Given the description of an element on the screen output the (x, y) to click on. 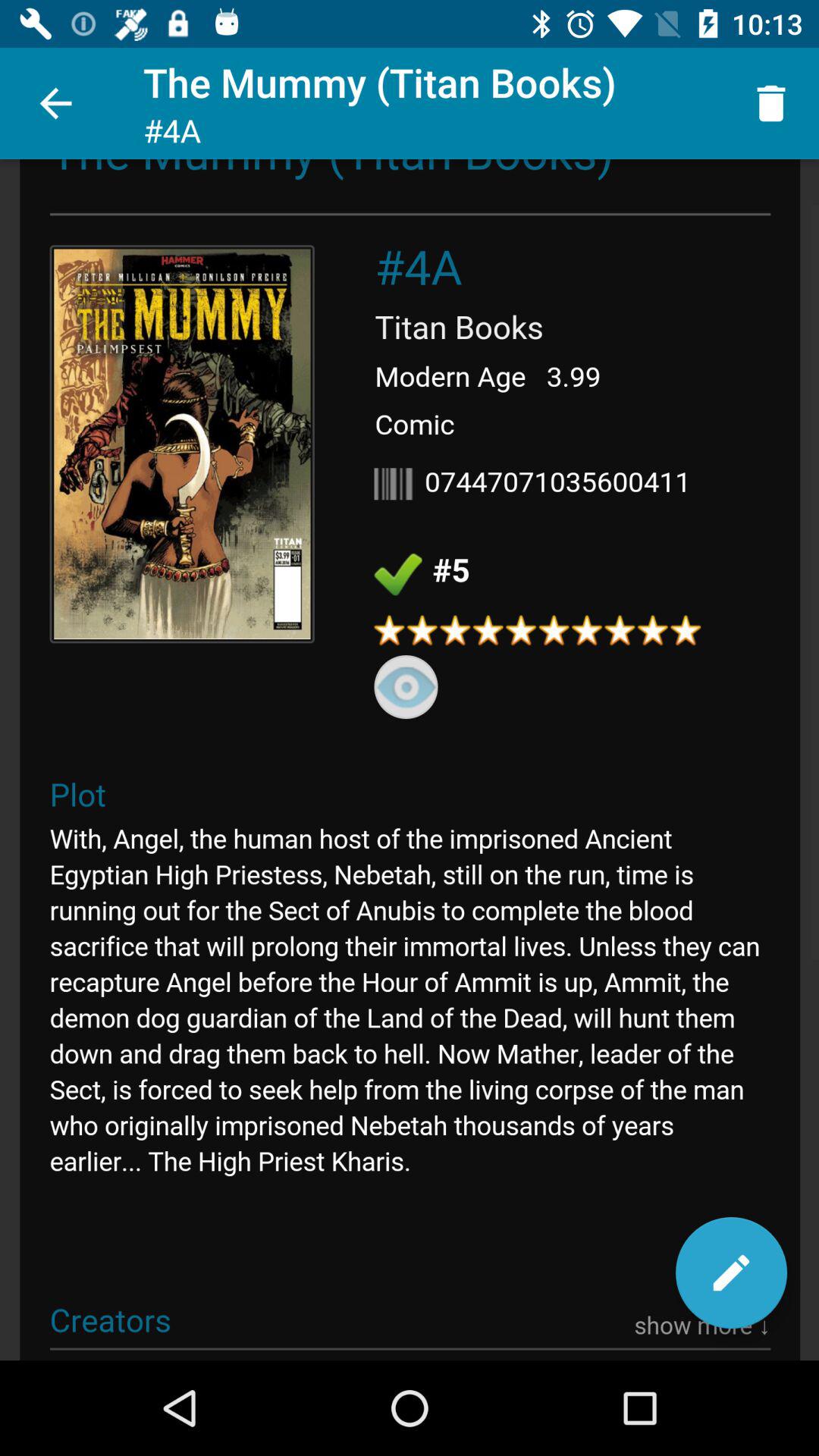
go to edit (731, 1272)
